Given the description of an element on the screen output the (x, y) to click on. 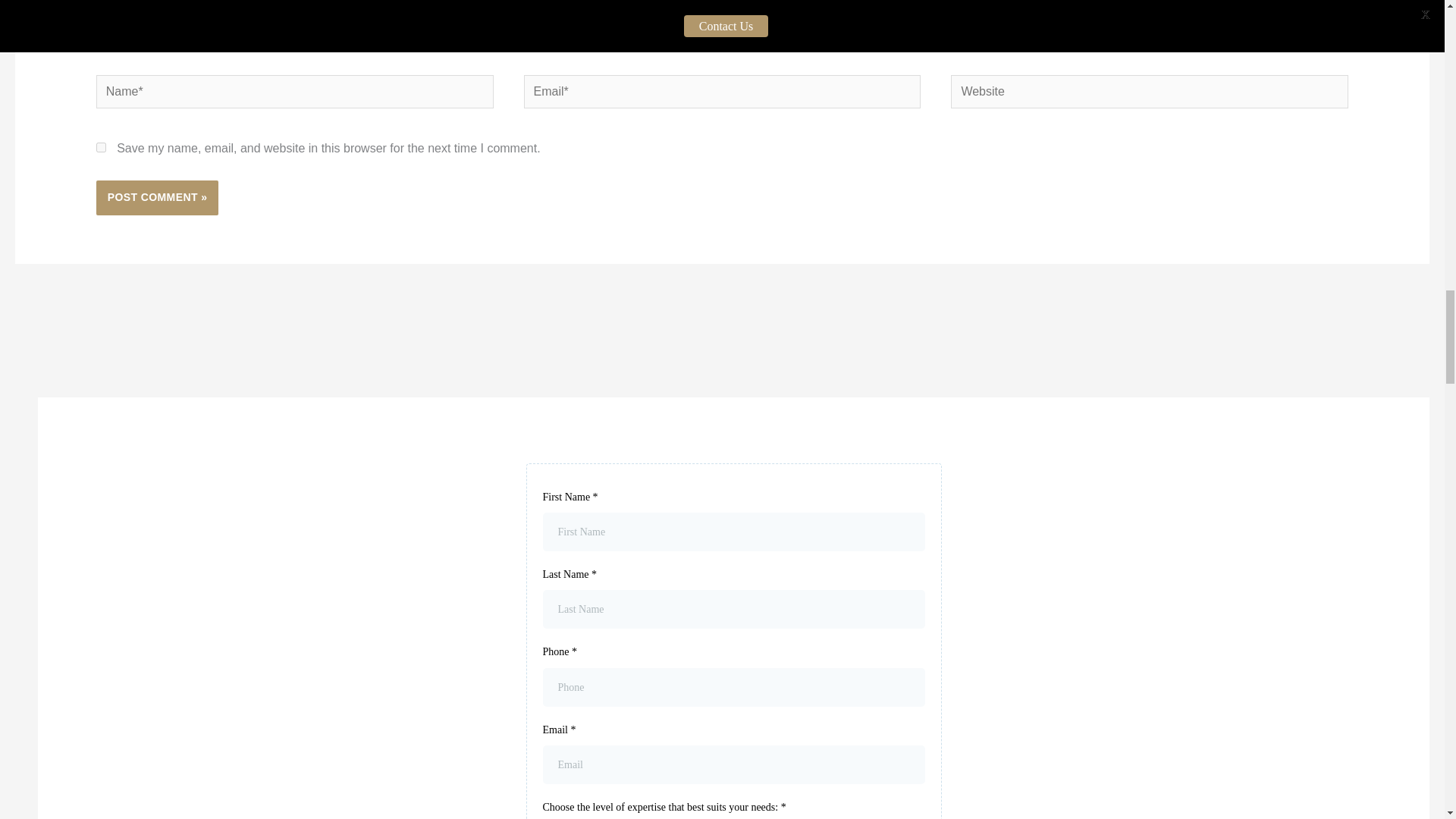
yes (101, 147)
